Given the description of an element on the screen output the (x, y) to click on. 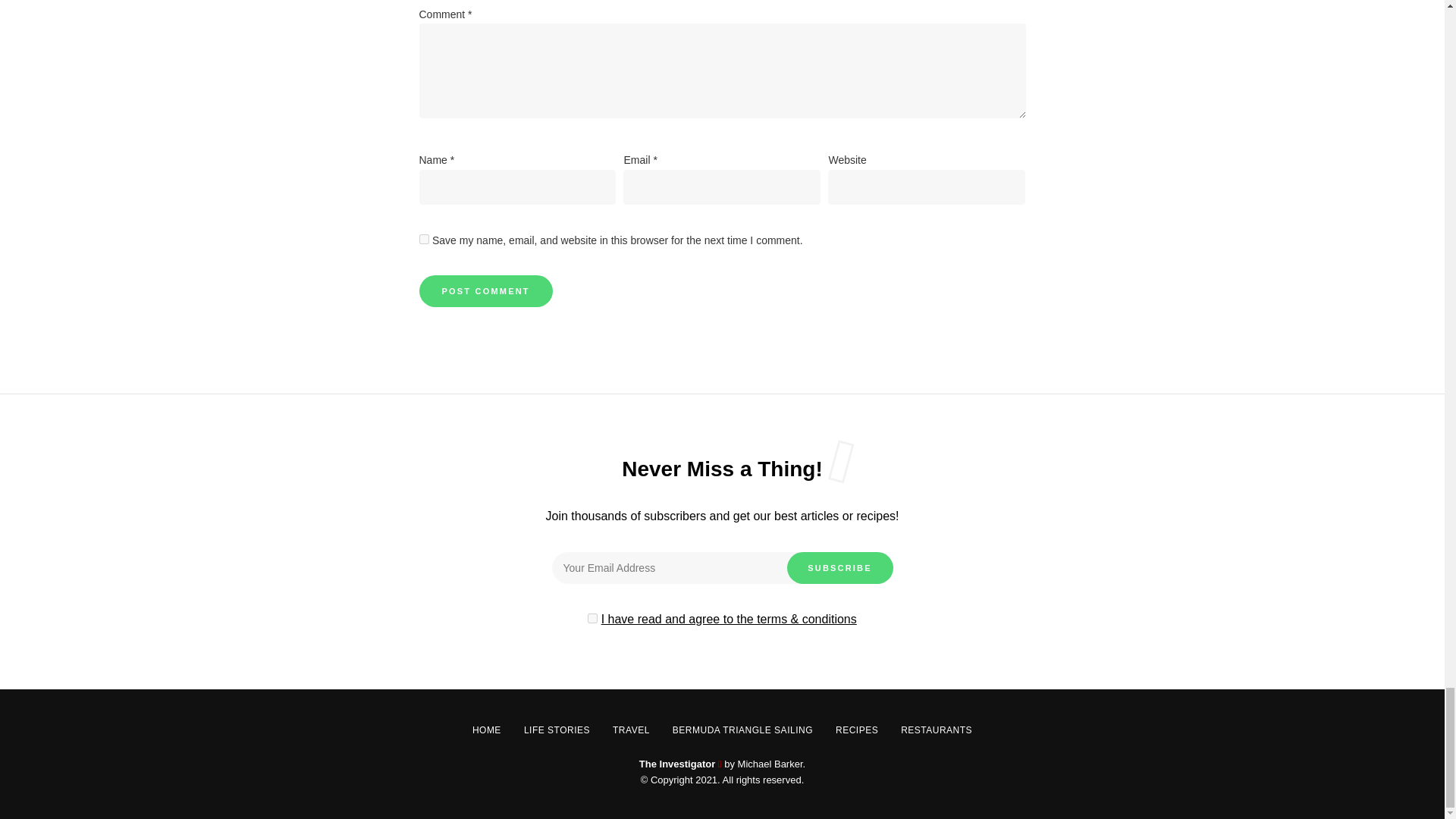
yes (423, 239)
Subscribe (840, 567)
1 (592, 618)
Post Comment (485, 291)
